Given the description of an element on the screen output the (x, y) to click on. 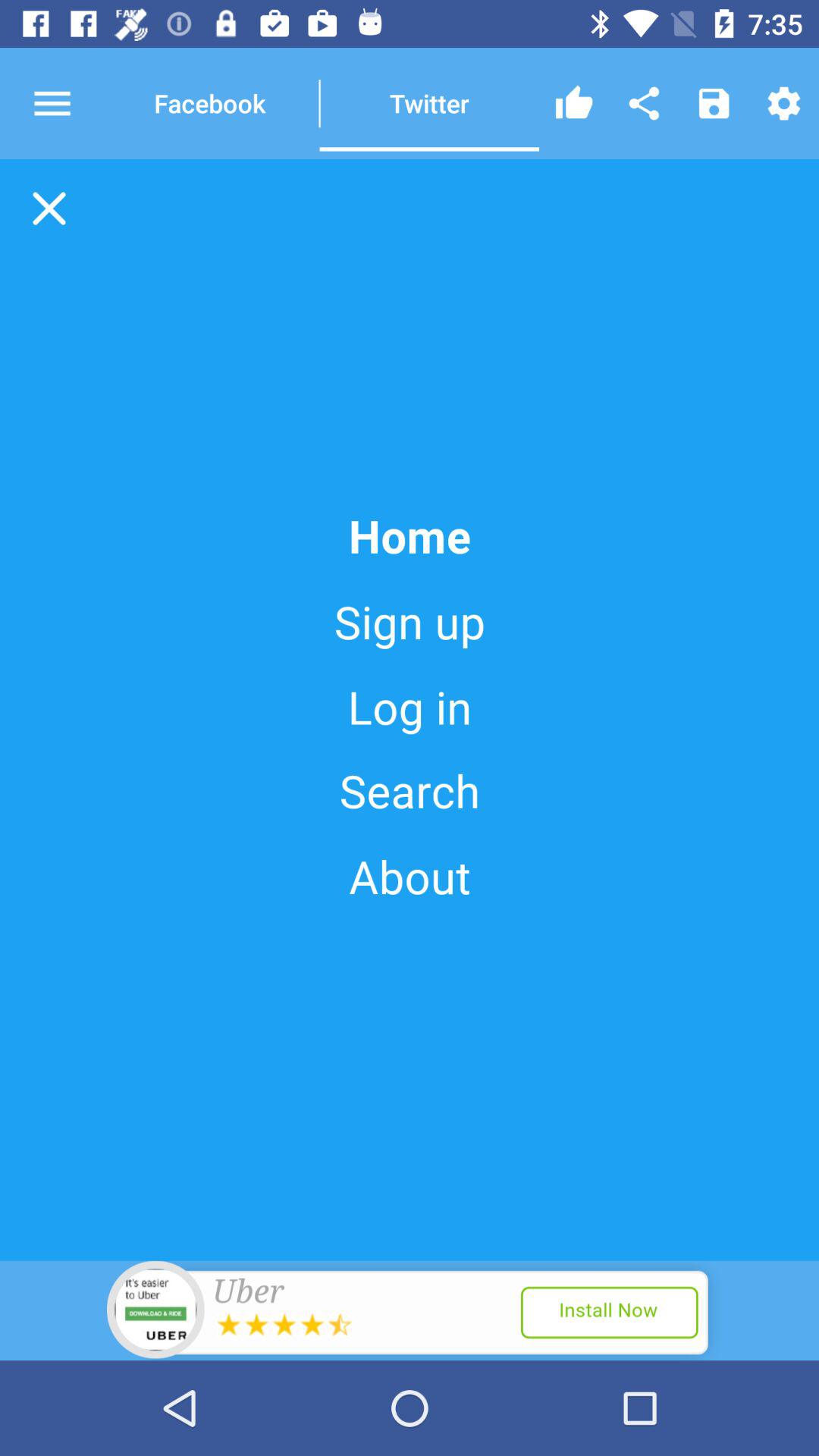
share the article (644, 103)
